Given the description of an element on the screen output the (x, y) to click on. 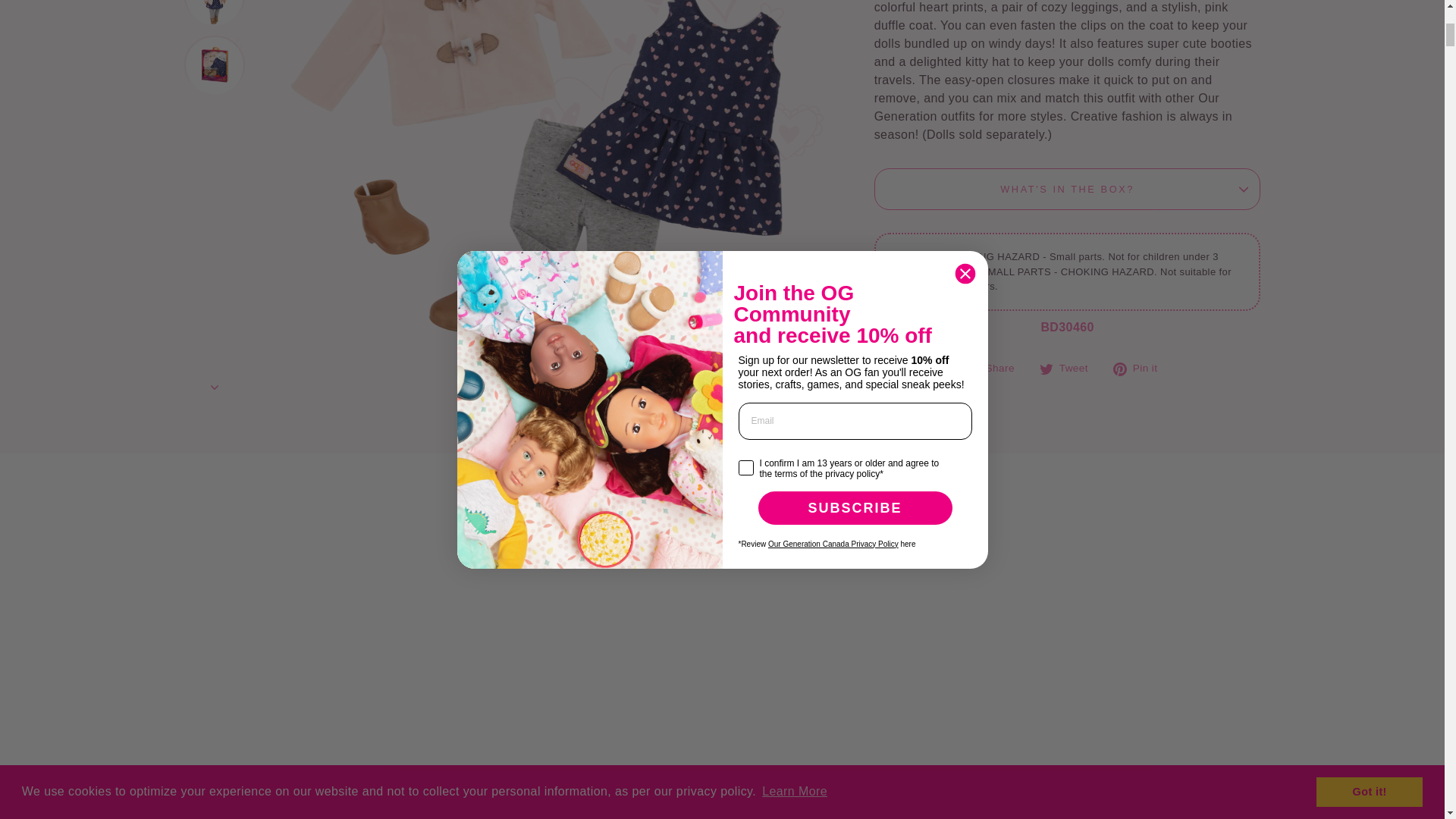
Share on Facebook (996, 368)
Pin on Pinterest (1141, 368)
Tweet on Twitter (1069, 368)
